Given the description of an element on the screen output the (x, y) to click on. 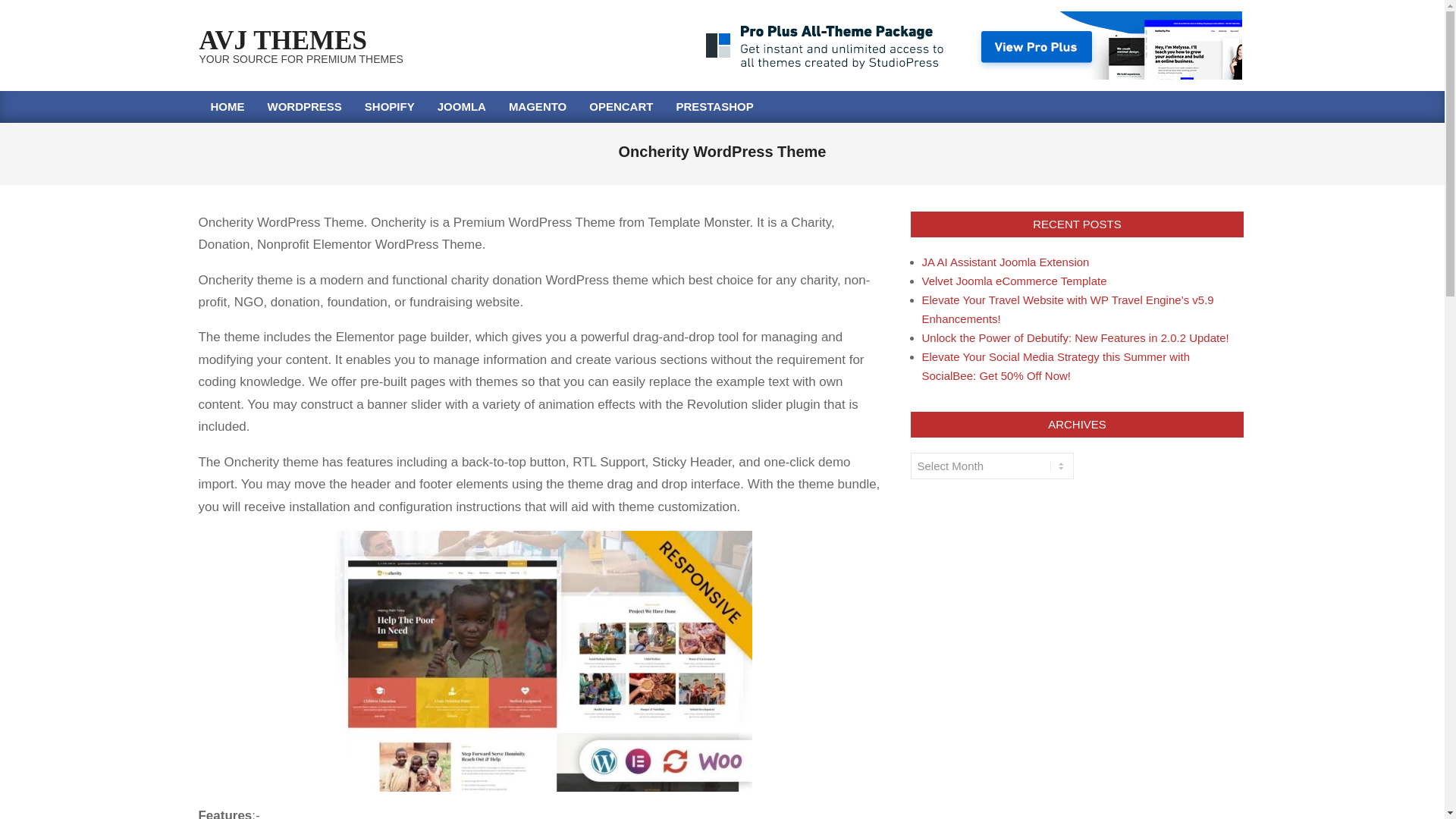
AVJ THEMES (282, 40)
OPENCART (620, 106)
WORDPRESS (304, 106)
Oncherity WordPress Theme (543, 660)
Unlock the Power of Debutify: New Features in 2.0.2 Update! (1074, 337)
PRESTASHOP (713, 106)
MAGENTO (537, 106)
Velvet Joomla eCommerce Template (1013, 280)
HOME (227, 106)
SHOPIFY (389, 106)
JOOMLA (461, 106)
JA AI Assistant Joomla Extension (1005, 261)
